Given the description of an element on the screen output the (x, y) to click on. 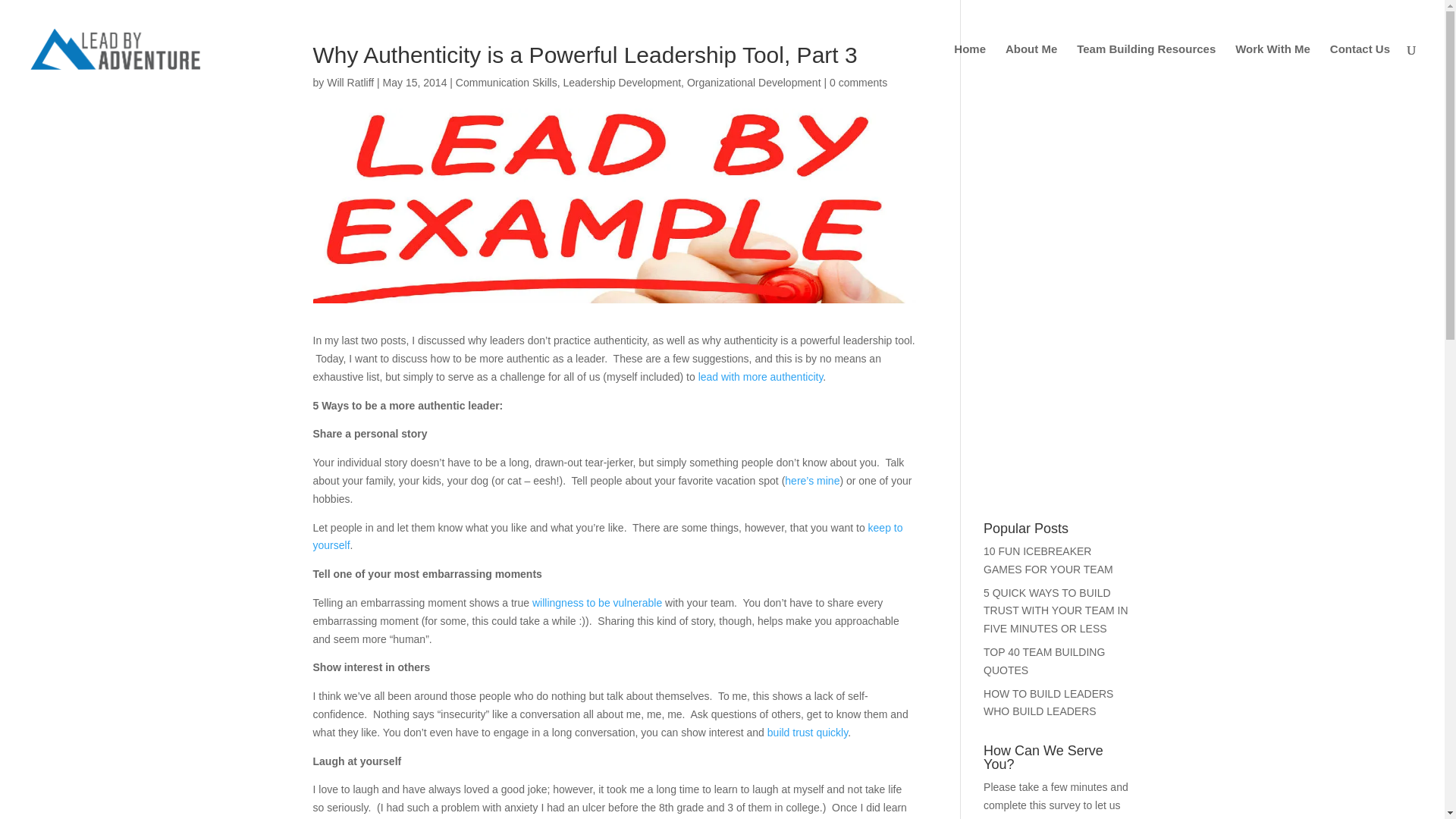
10 FUN ICEBREAKER GAMES FOR YOUR TEAM (1048, 560)
Communication Skills (506, 82)
build trust quickly (807, 732)
willingness to be vulnerable (597, 603)
Lead Authentically, Without Oversharing (761, 377)
Work With Me (1272, 71)
TOP 40 TEAM BUILDING QUOTES (1044, 661)
The Vulnerable Leader (597, 603)
0 comments (857, 82)
Posts by Will Ratliff (350, 82)
Organizational Development (754, 82)
Will Ratliff (350, 82)
About Me (1031, 71)
keep to yourself (607, 536)
Contact Us (1360, 71)
